Given the description of an element on the screen output the (x, y) to click on. 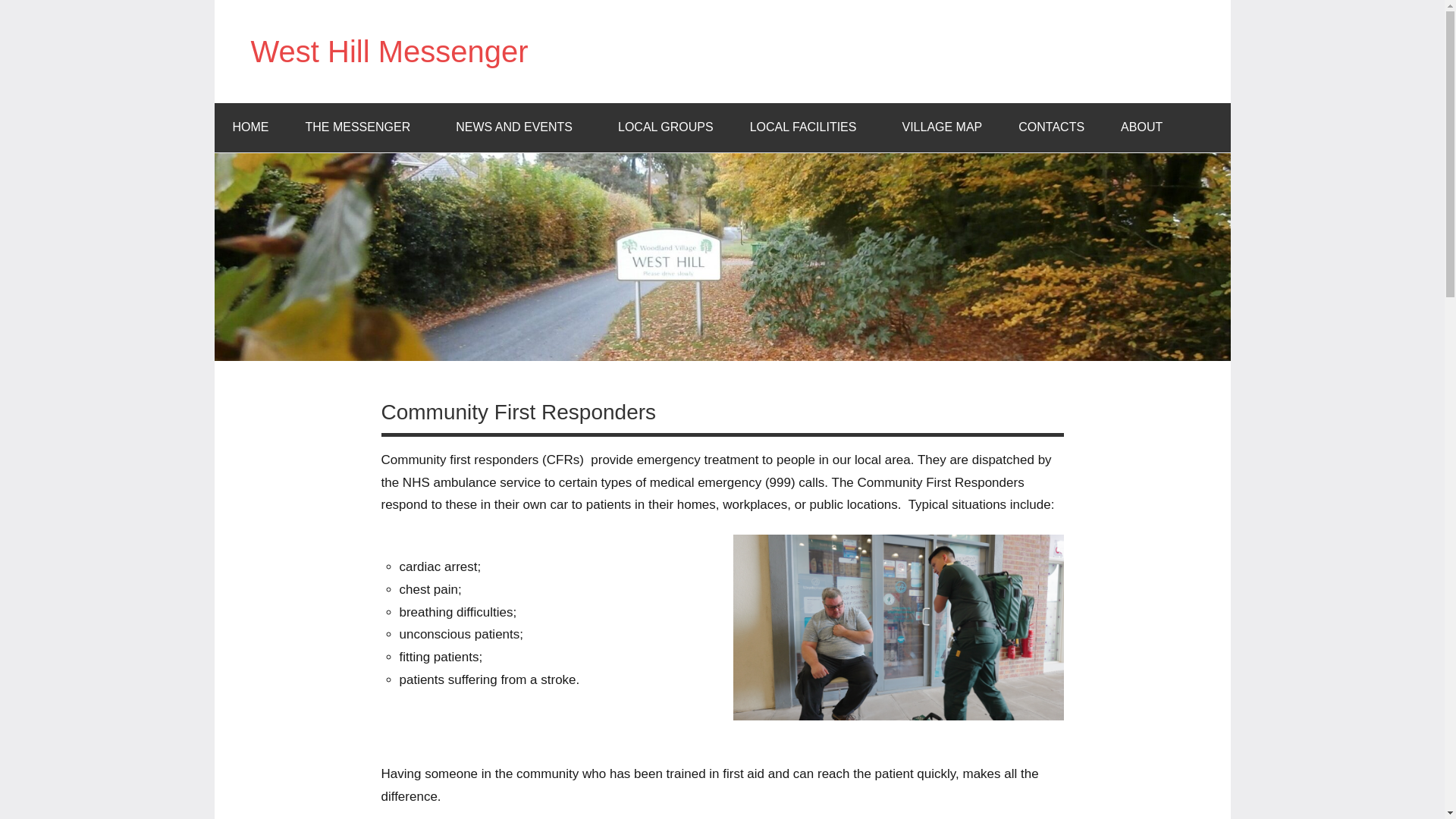
THE MESSENGER (362, 127)
VILLAGE MAP (941, 127)
CONTACTS (1051, 127)
HOME (250, 127)
NEWS AND EVENTS (518, 127)
ABOUT (1141, 127)
West Hill Messenger (388, 51)
LOCAL FACILITIES (807, 127)
LOCAL GROUPS (665, 127)
